Given the description of an element on the screen output the (x, y) to click on. 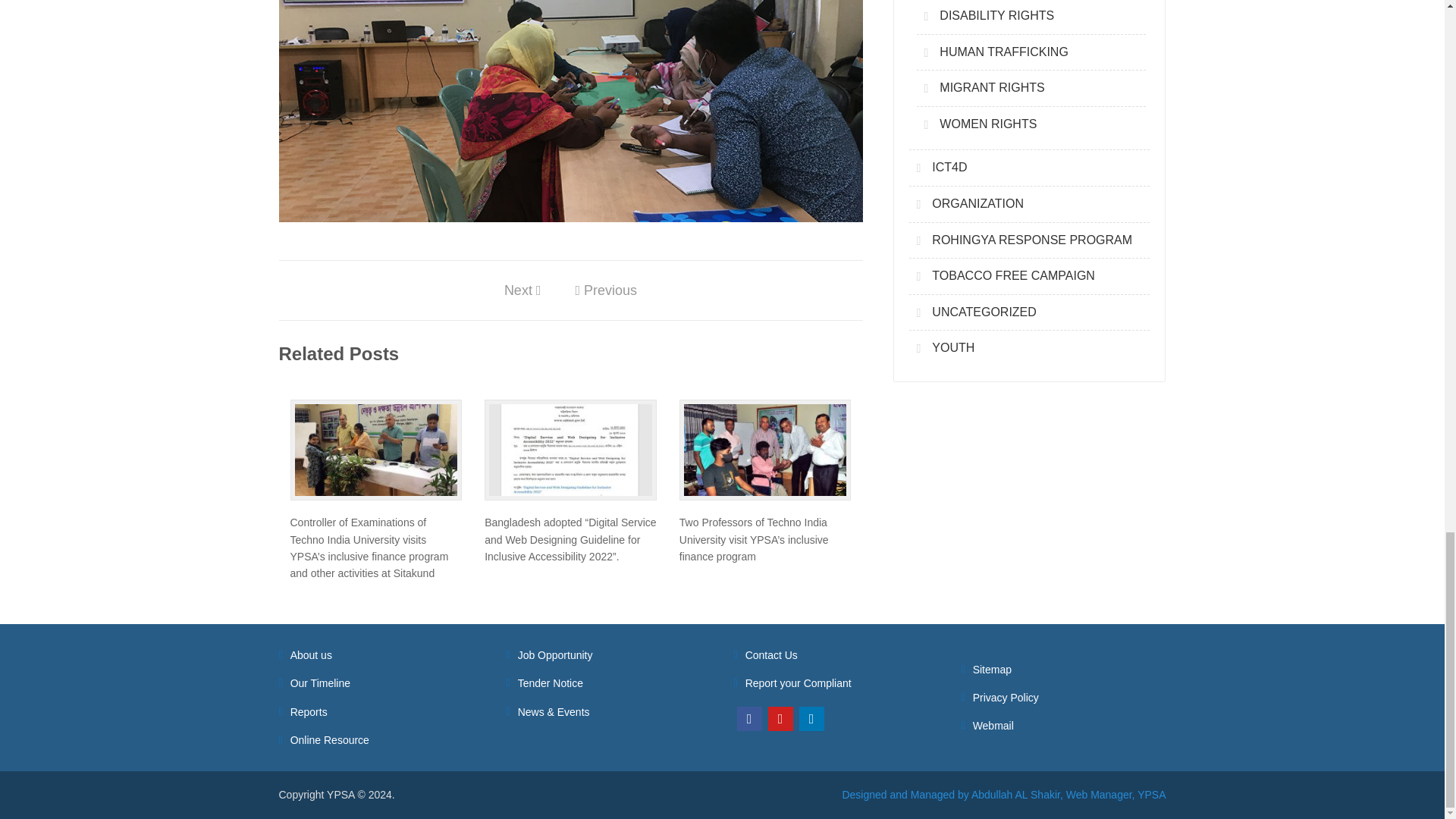
Find un on Linkedin (811, 718)
Find un on Youtube (779, 718)
Find us on Facebook (748, 718)
